Given the description of an element on the screen output the (x, y) to click on. 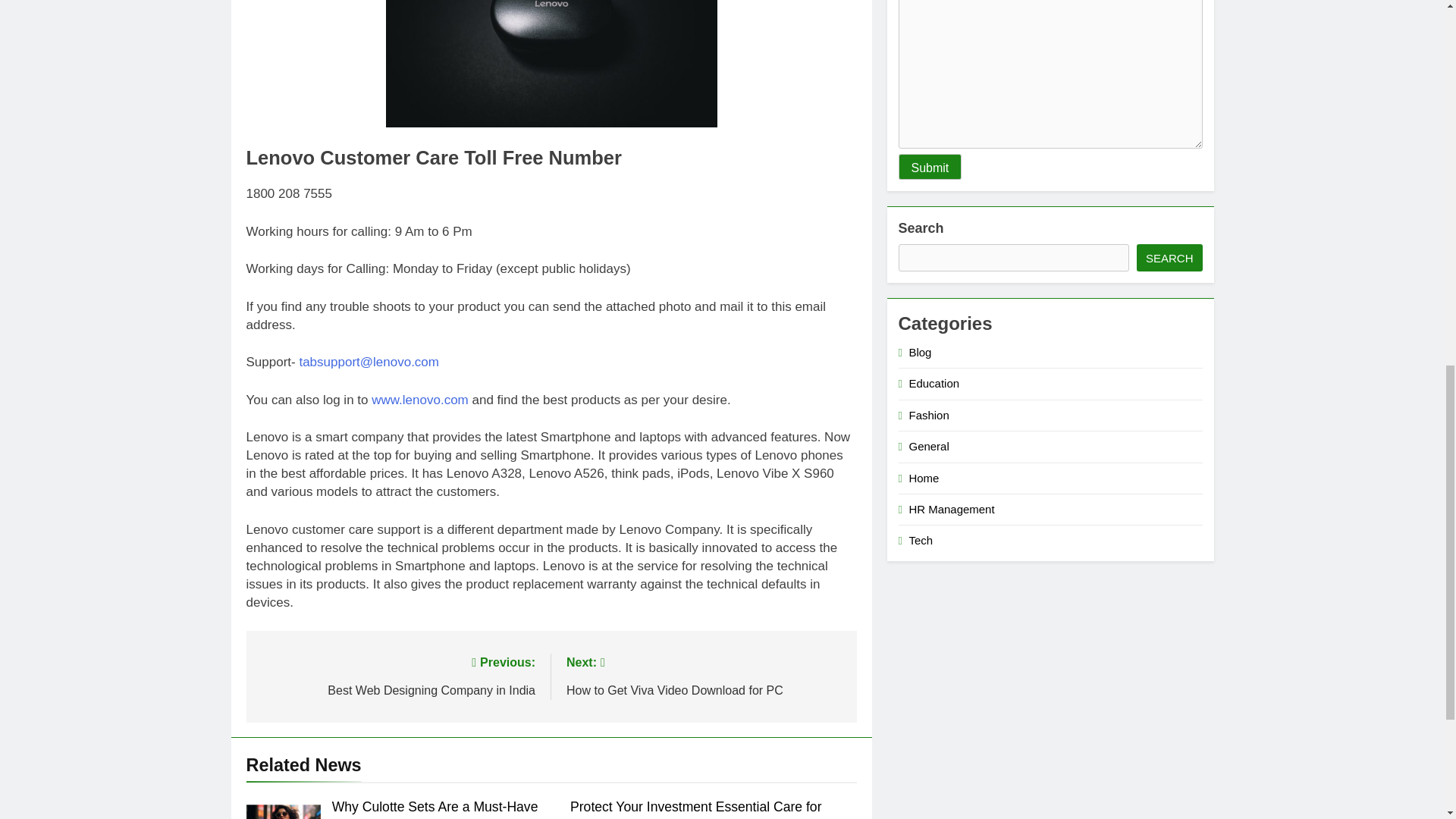
Submit (929, 166)
